Given the description of an element on the screen output the (x, y) to click on. 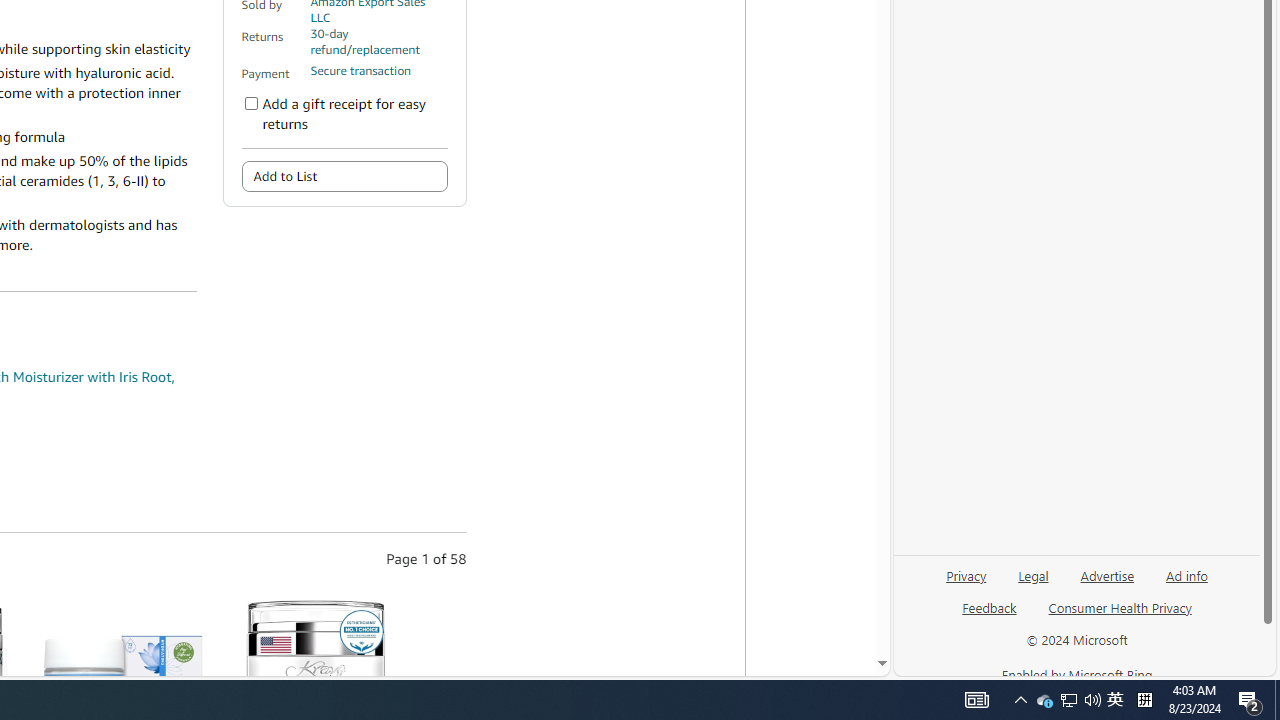
Legal (1033, 583)
30-day refund/replacement (378, 41)
Secure transaction (360, 71)
Ad info (1187, 574)
Add to List (343, 176)
Ad info (1186, 583)
Legal (1033, 574)
Privacy (966, 583)
Consumer Health Privacy (1119, 607)
Advertise (1107, 574)
Advertise (1106, 583)
Feedback (988, 615)
Feedback (989, 607)
Add a gift receipt for easy returns (251, 103)
Privacy (965, 574)
